Given the description of an element on the screen output the (x, y) to click on. 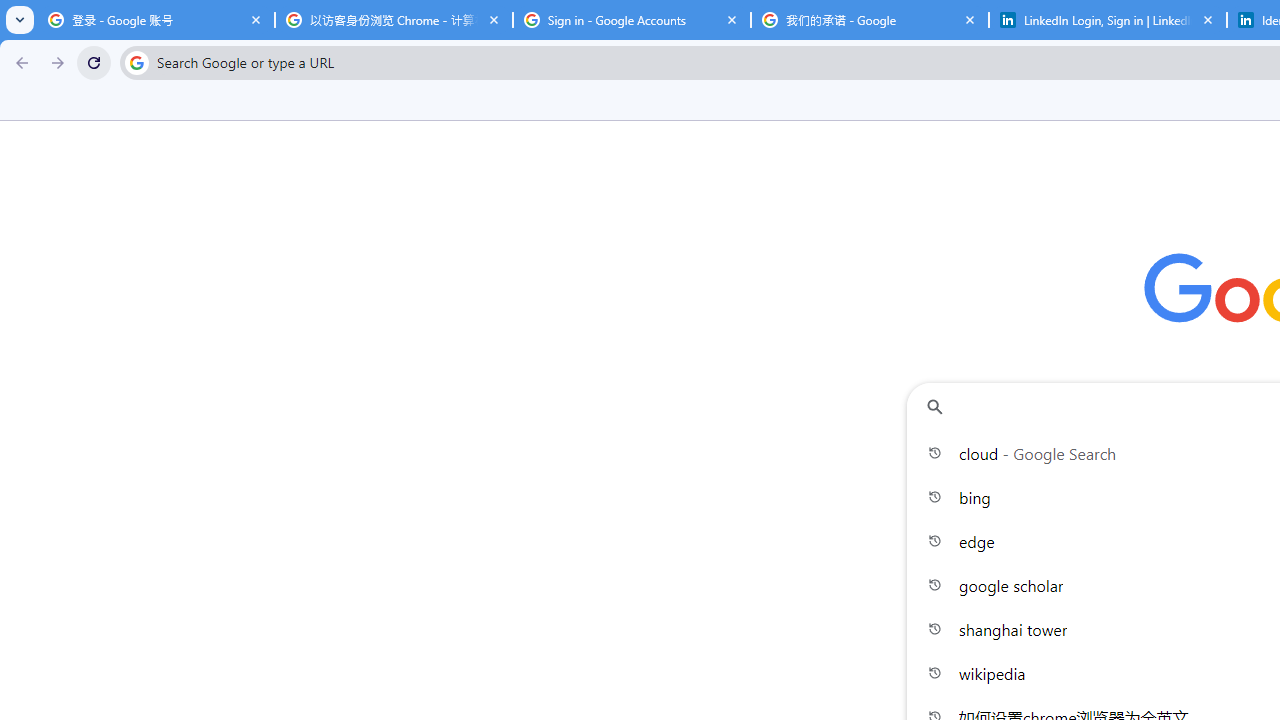
Search icon (136, 62)
Sign in - Google Accounts (632, 20)
LinkedIn Login, Sign in | LinkedIn (1108, 20)
